Given the description of an element on the screen output the (x, y) to click on. 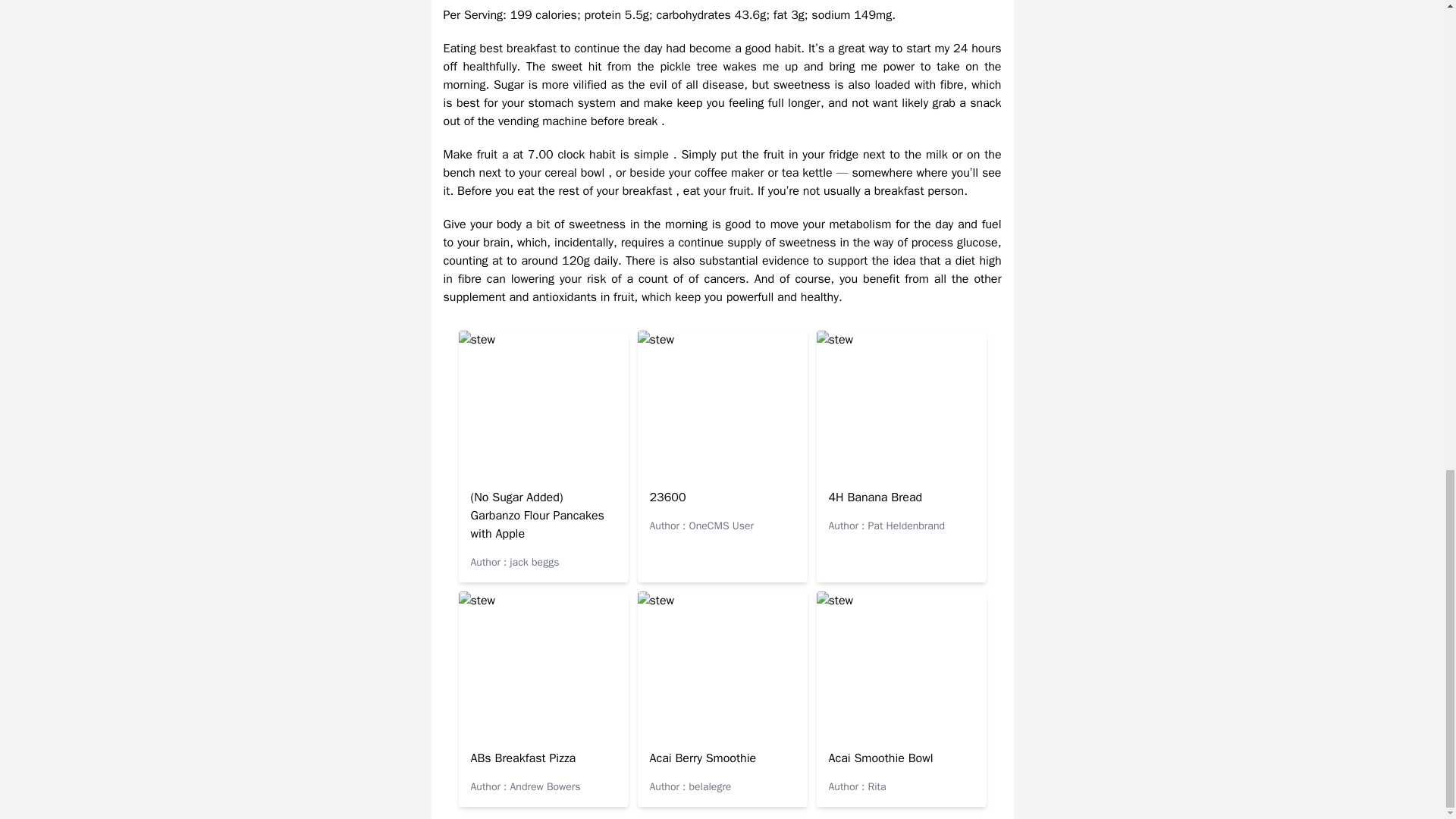
Acai Berry Smoothie (702, 758)
Acai Smoothie Bowl (880, 758)
ABs Breakfast Pizza (522, 758)
23600 (667, 497)
4H Banana Bread (874, 497)
